Given the description of an element on the screen output the (x, y) to click on. 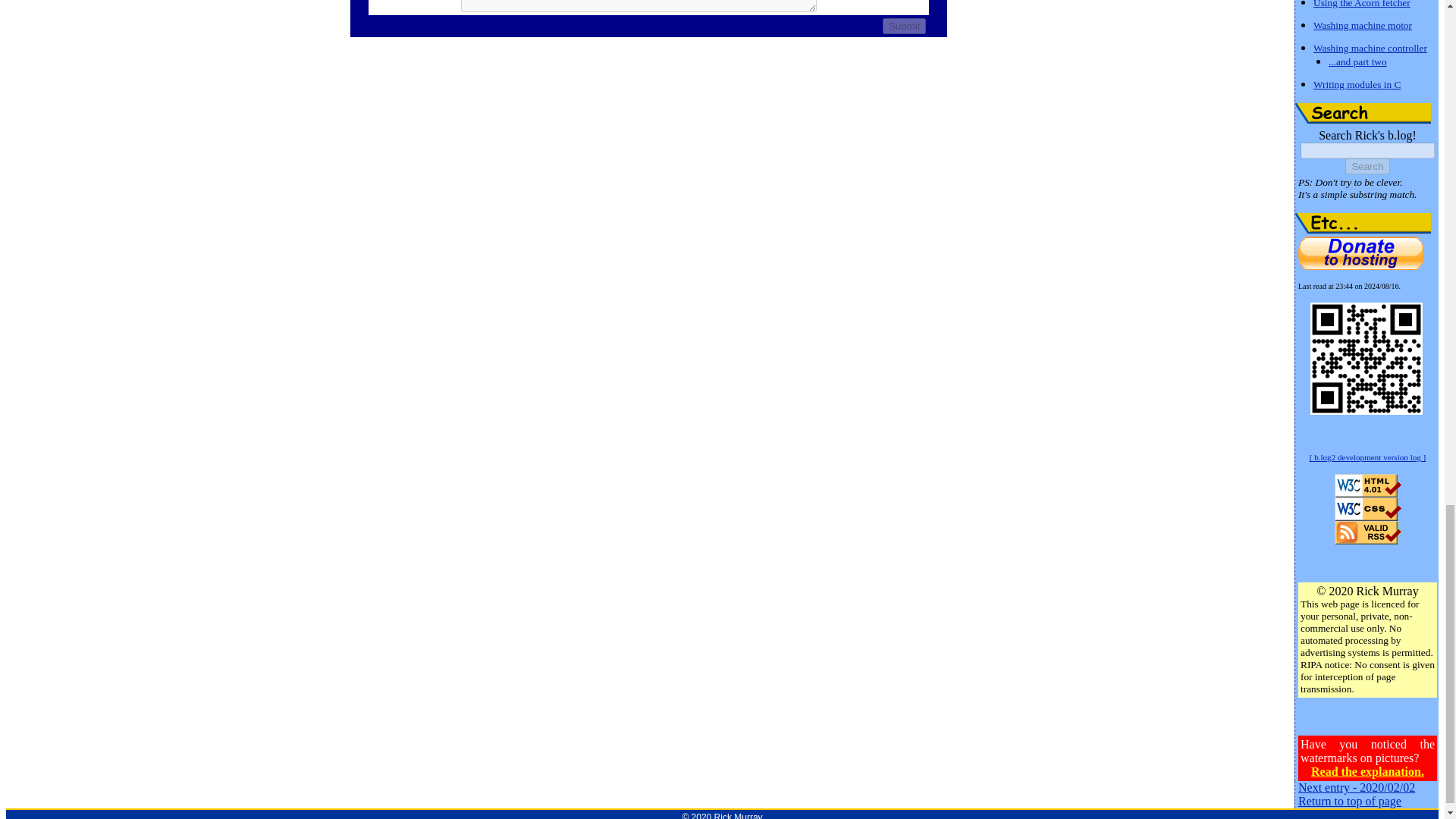
Submit (904, 26)
Etc... (1363, 222)
Search (1363, 113)
Search (1367, 166)
Submit (904, 26)
